Given the description of an element on the screen output the (x, y) to click on. 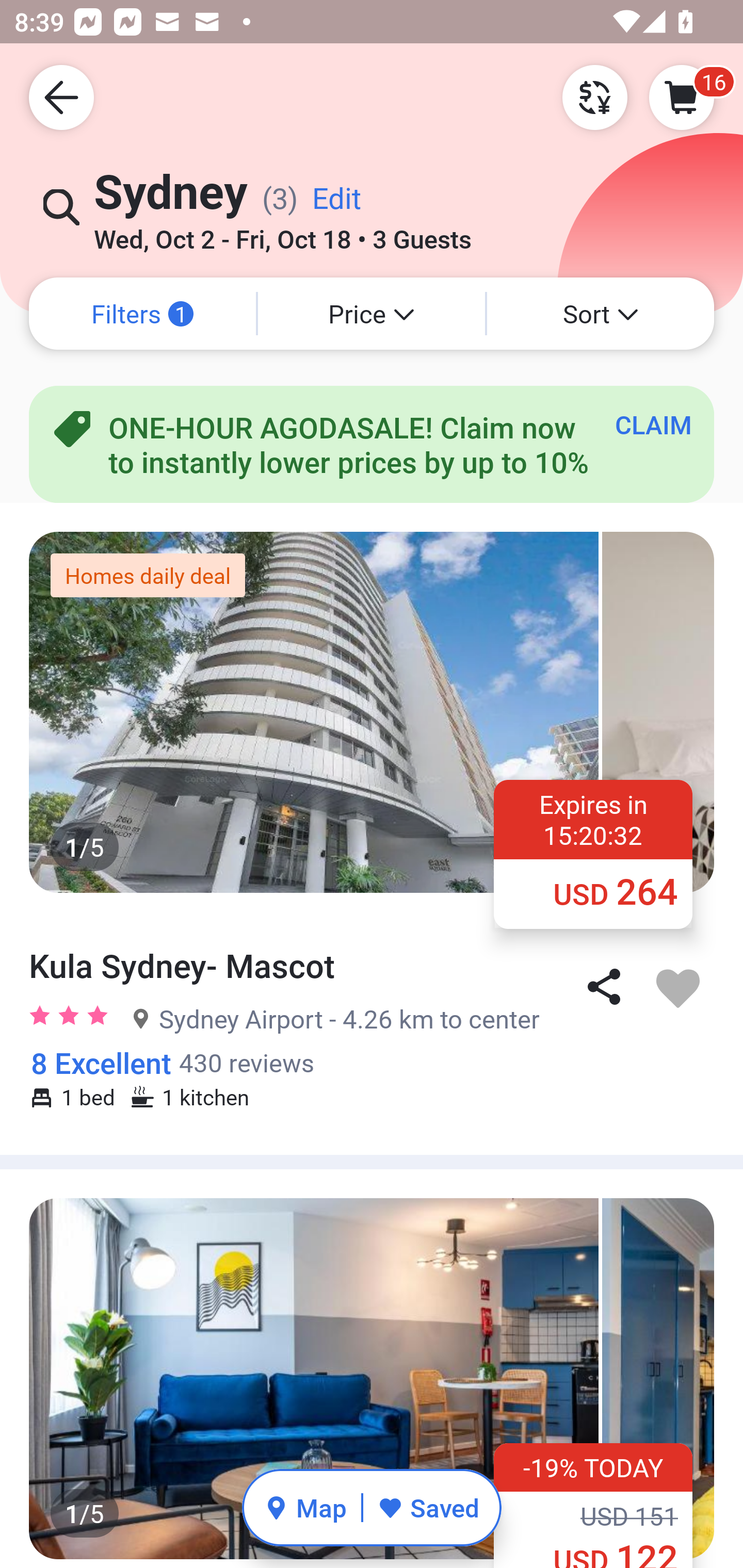
Filters 1 (141, 313)
Price (371, 313)
Sort (600, 313)
CLAIM (653, 424)
1/5 (371, 711)
Homes daily deal (147, 575)
Expires in 15:20:32 ‪USD 264 (593, 853)
1/5 (371, 1377)
-19% TODAY ‪USD 151 ‪USD 122 (593, 1505)
Map (305, 1507)
Saved (428, 1507)
